Given the description of an element on the screen output the (x, y) to click on. 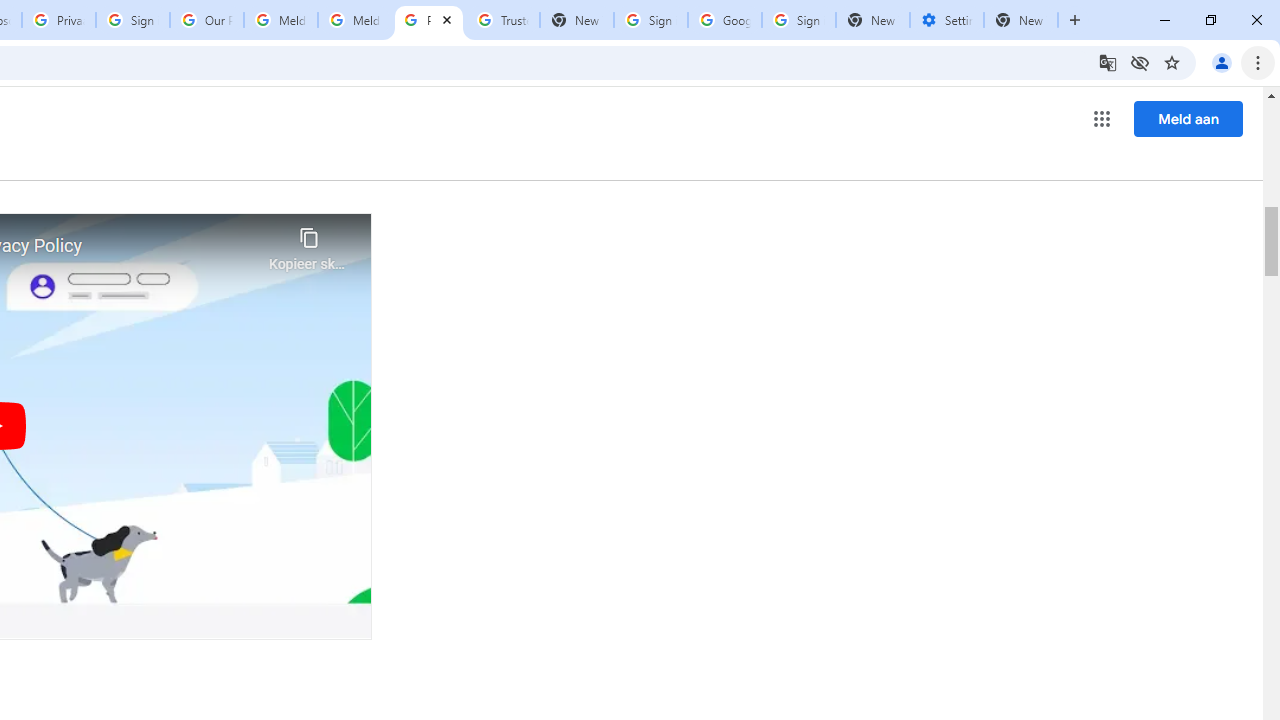
Trusted Information and Content - Google Safety Center (502, 20)
Google Cybersecurity Innovations - Google Safety Center (724, 20)
New Tab (1021, 20)
Settings - Addresses and more (947, 20)
Sign in - Google Accounts (133, 20)
Google-programme (1101, 118)
